Given the description of an element on the screen output the (x, y) to click on. 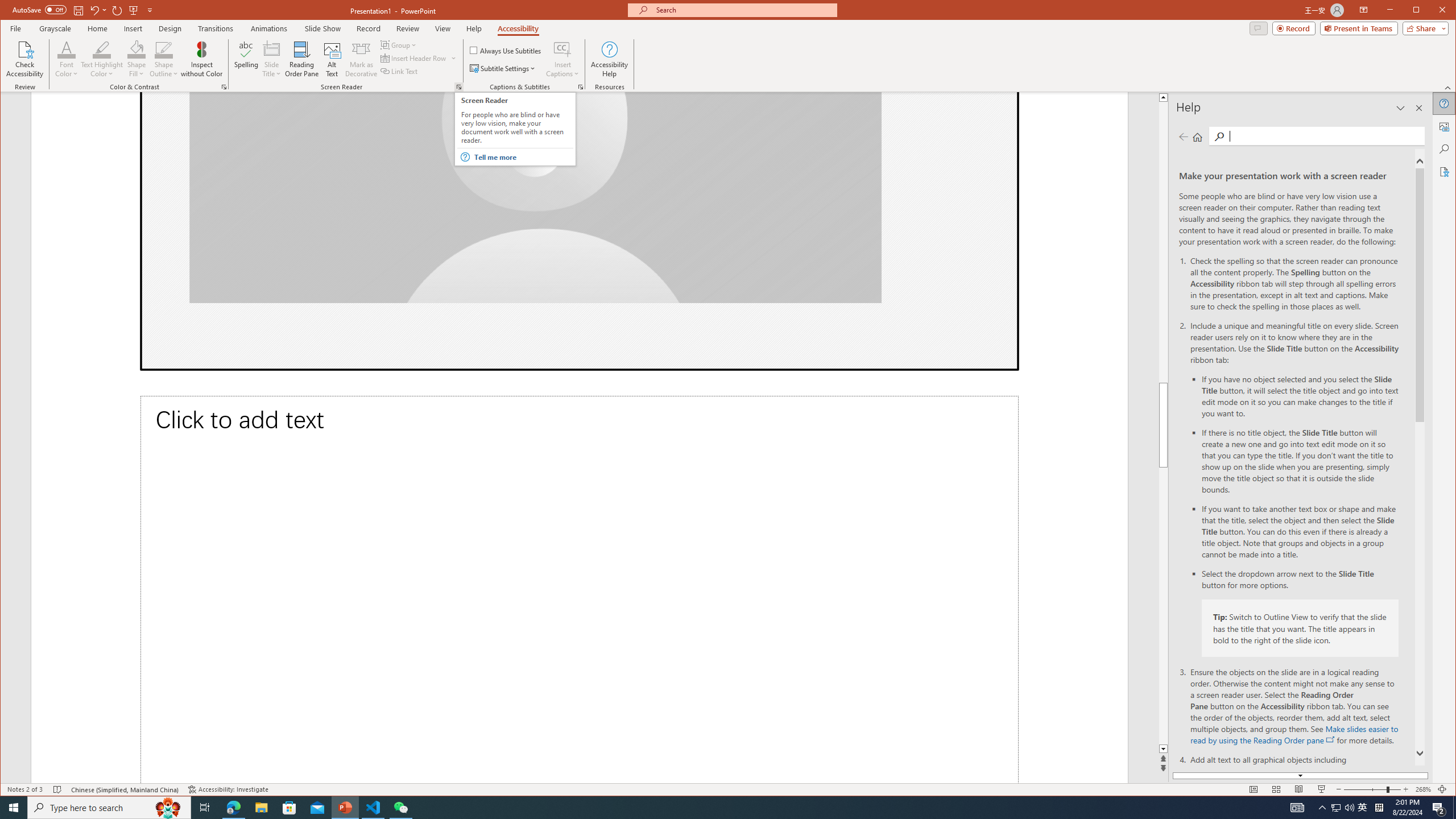
User Promoted Notification Area (1342, 807)
Visual Studio Code - 1 running window (373, 807)
Type here to search (108, 807)
Q2790: 100% (1349, 807)
Accessibility Help (608, 59)
Notification Chevron (1322, 807)
Group (399, 44)
